Given the description of an element on the screen output the (x, y) to click on. 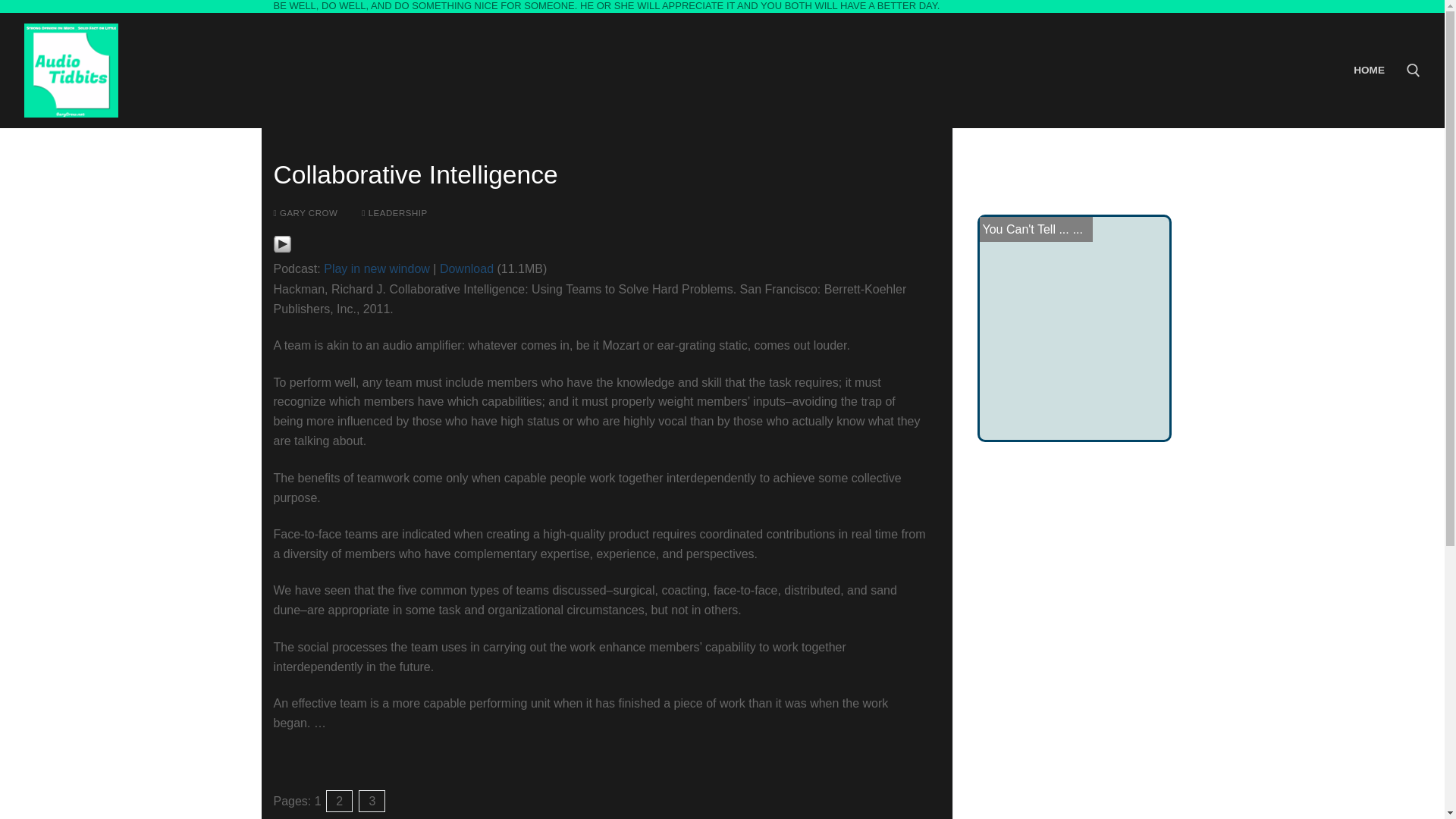
Play (281, 244)
Cowboys and Ind... (1034, 229)
Alien Insert? -... (1024, 229)
GARY CROW (305, 212)
Relating Long T... (1029, 229)
Dream Magic (1018, 229)
Download (466, 268)
HOME (1368, 70)
LEADERSHIP (393, 212)
You Can't Tell ... (1025, 229)
Play in new window (376, 268)
Your Relationsh... (1030, 229)
Download (466, 268)
Play in new window (376, 268)
2 (339, 801)
